Given the description of an element on the screen output the (x, y) to click on. 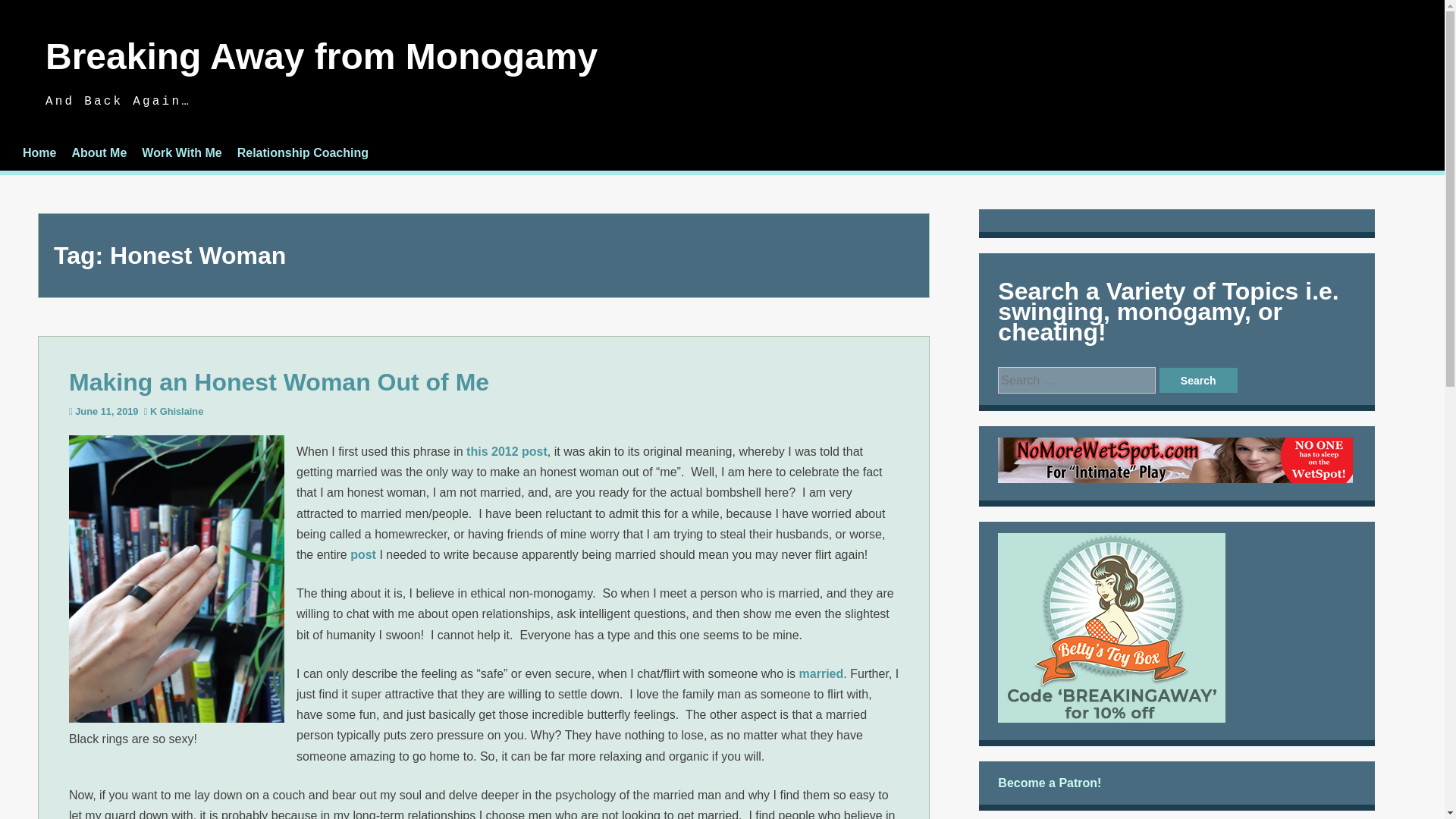
Work With Me (181, 152)
Search (1197, 380)
Making an Honest Woman Out of Me (278, 381)
June 11, 2019 (106, 410)
Breaking Away from Monogamy (320, 56)
Relationship Coaching (302, 152)
Home (39, 152)
About Me (98, 152)
married (821, 673)
post (362, 554)
K Ghislaine (176, 410)
Search (1197, 380)
Become a Patron! (1048, 782)
this 2012 post (506, 451)
